Given the description of an element on the screen output the (x, y) to click on. 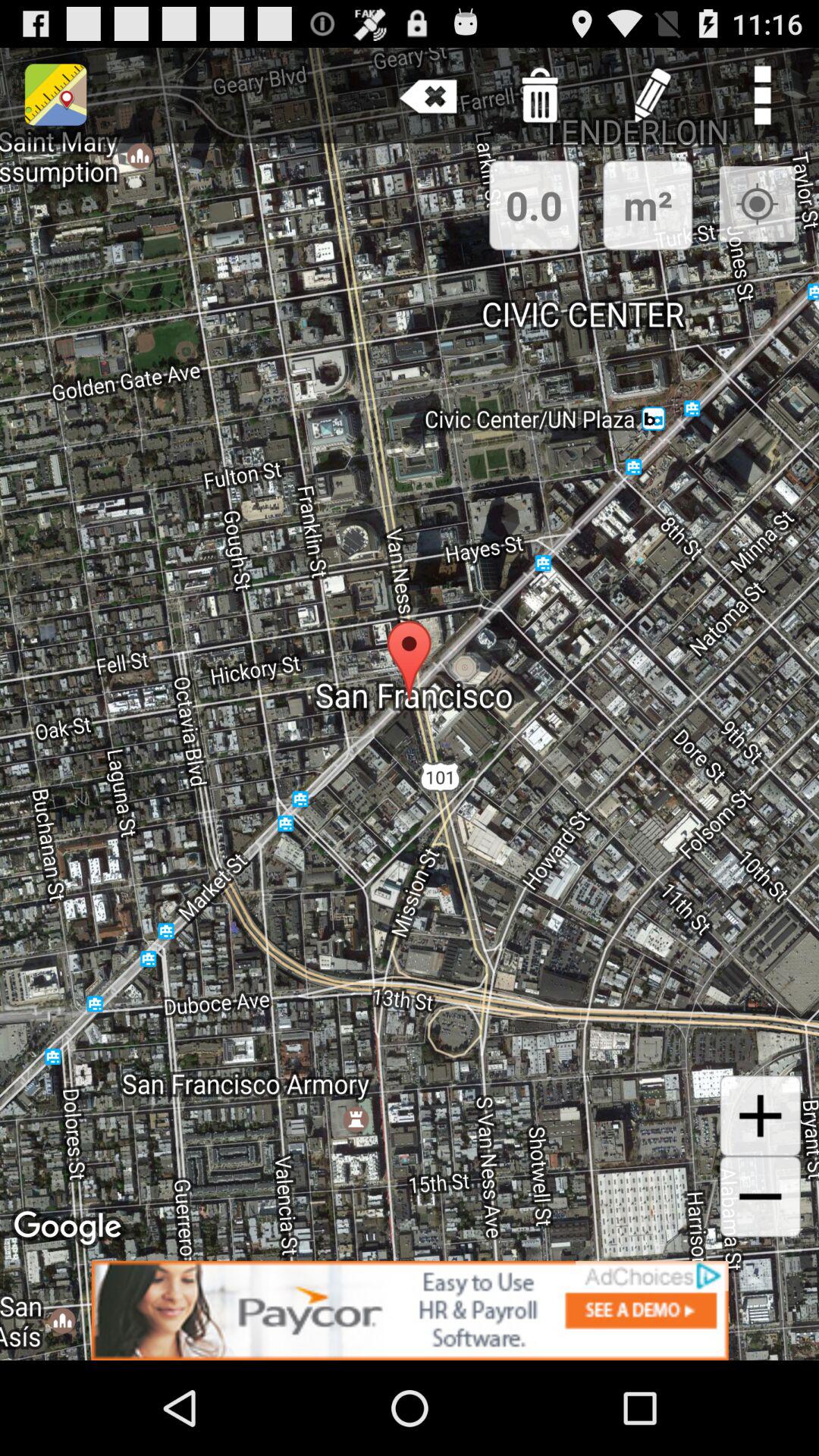
advertisement (409, 1310)
